Given the description of an element on the screen output the (x, y) to click on. 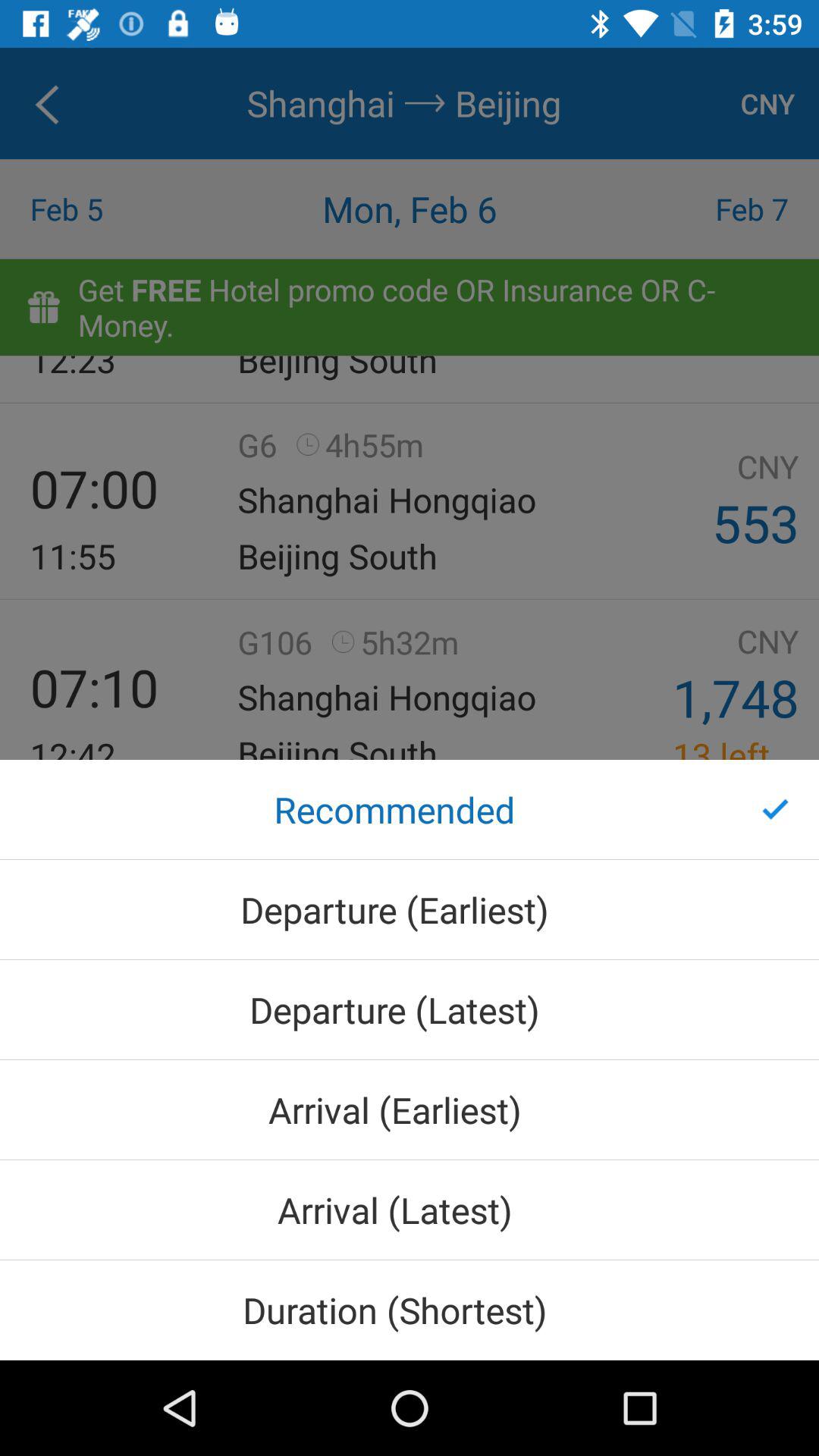
press departure (latest) (409, 1009)
